Given the description of an element on the screen output the (x, y) to click on. 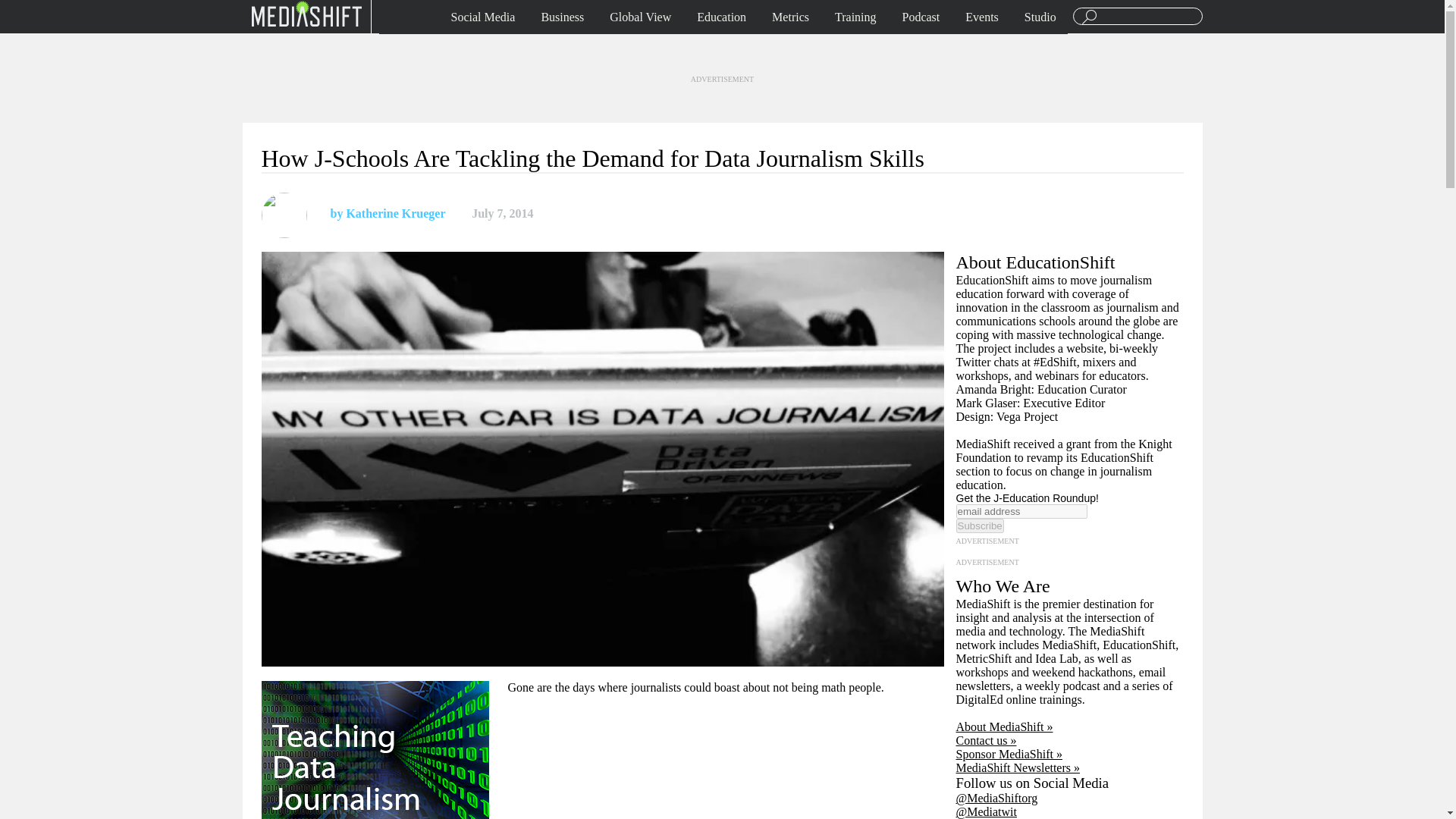
Social Media (483, 17)
Studio (1040, 17)
Subscribe (979, 525)
Podcast (921, 17)
Share by Email (614, 213)
Metrics (790, 17)
Events (981, 17)
Training (856, 17)
Global View (640, 17)
Business (562, 17)
